Given the description of an element on the screen output the (x, y) to click on. 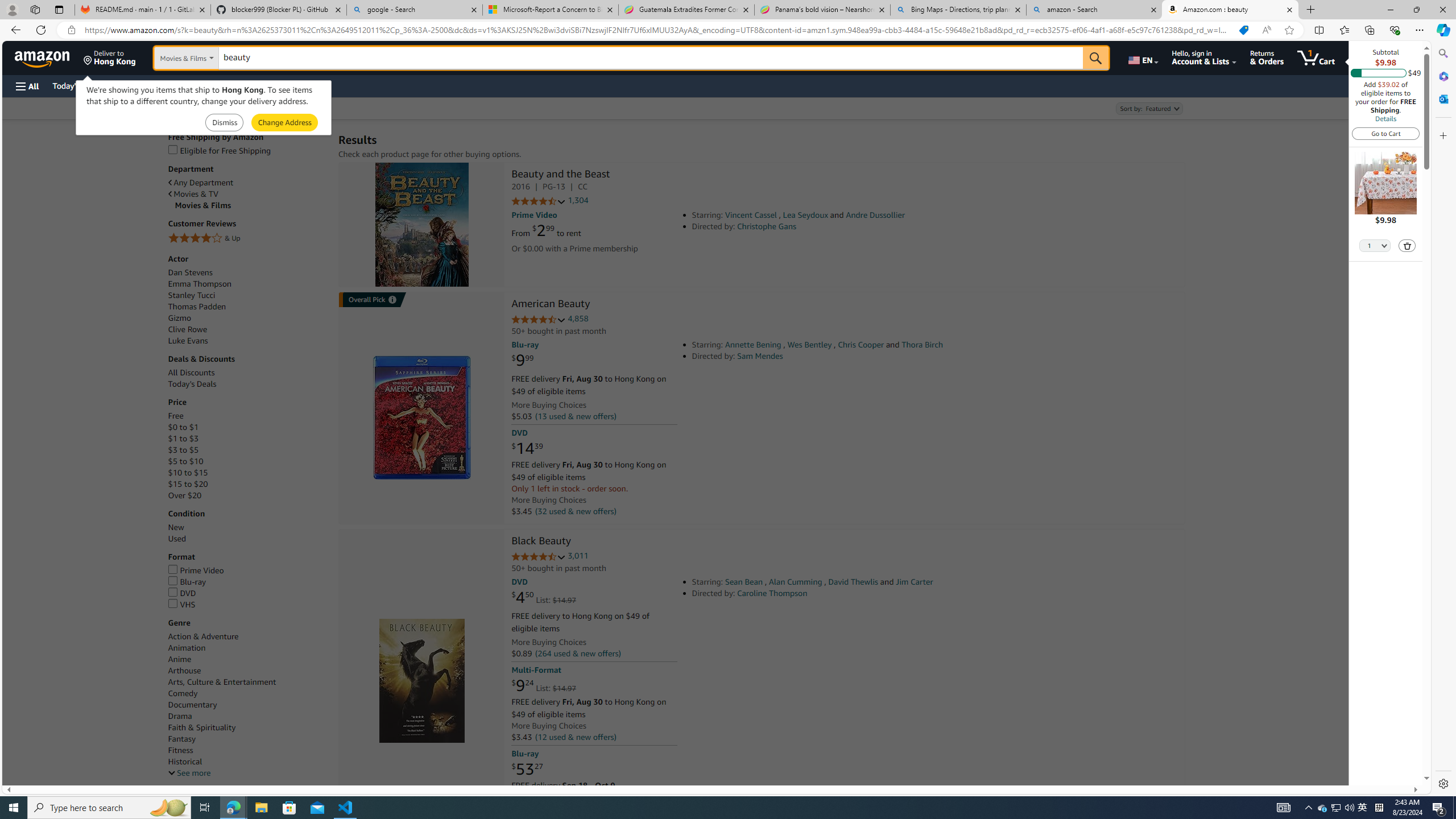
Arts, Culture & Entertainment (247, 682)
Thomas Padden (196, 306)
Eligible for Free Shipping (218, 150)
Annette Bening (753, 344)
Emma Thompson (199, 283)
Sort by: (1148, 108)
From $2.99 to rent (545, 230)
Go back to filtering menu (48, 780)
VHS (247, 604)
1 item in cart (1315, 57)
